Given the description of an element on the screen output the (x, y) to click on. 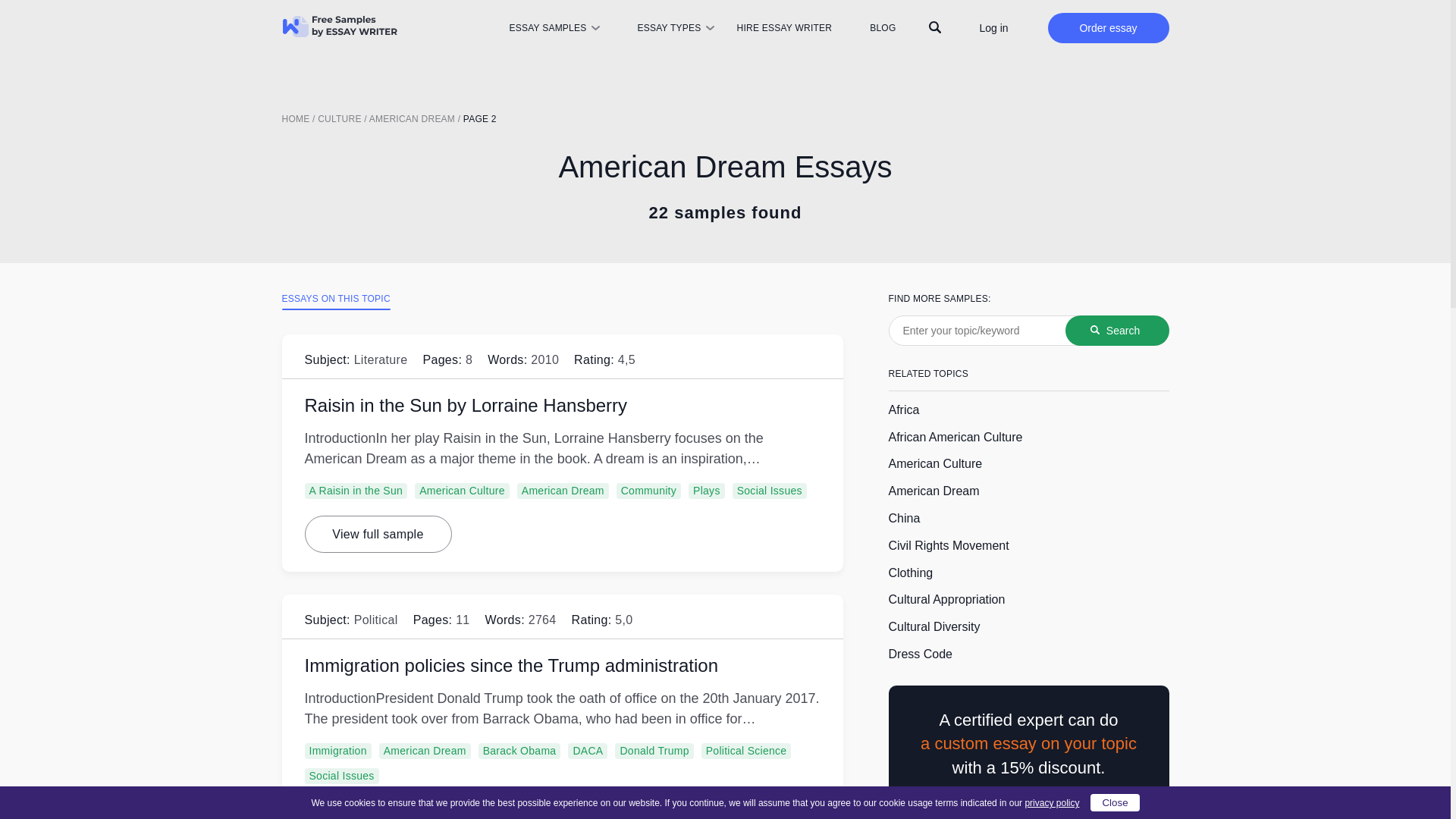
ESSAY TYPES (668, 28)
Chat (1412, 779)
ESSAY SAMPLES (545, 28)
Search (1116, 330)
